Given the description of an element on the screen output the (x, y) to click on. 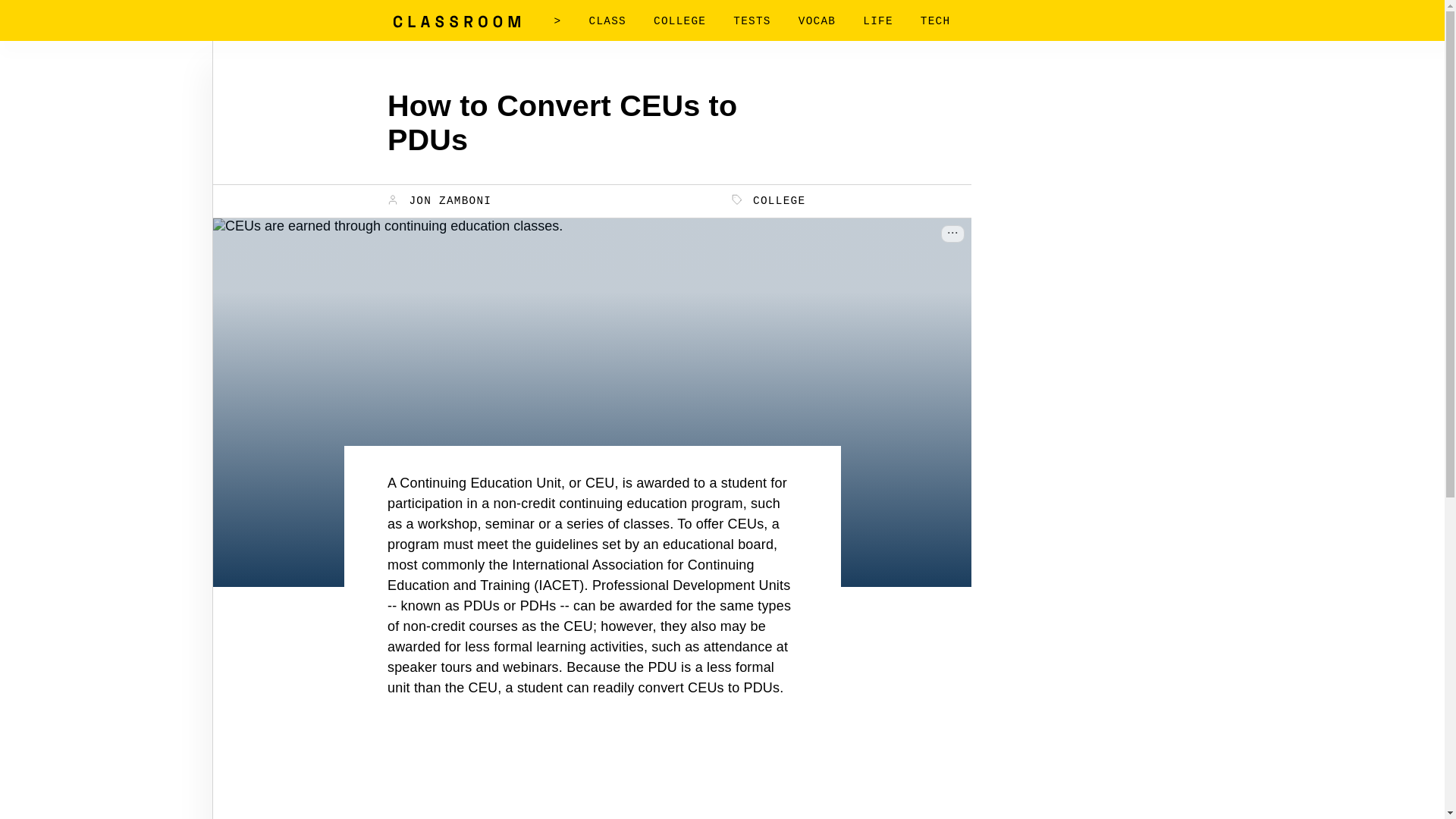
LIFE (878, 21)
CLASS (607, 21)
TESTS (751, 21)
COLLEGE (769, 200)
VOCAB (816, 21)
TECH (935, 21)
COLLEGE (679, 21)
